Given the description of an element on the screen output the (x, y) to click on. 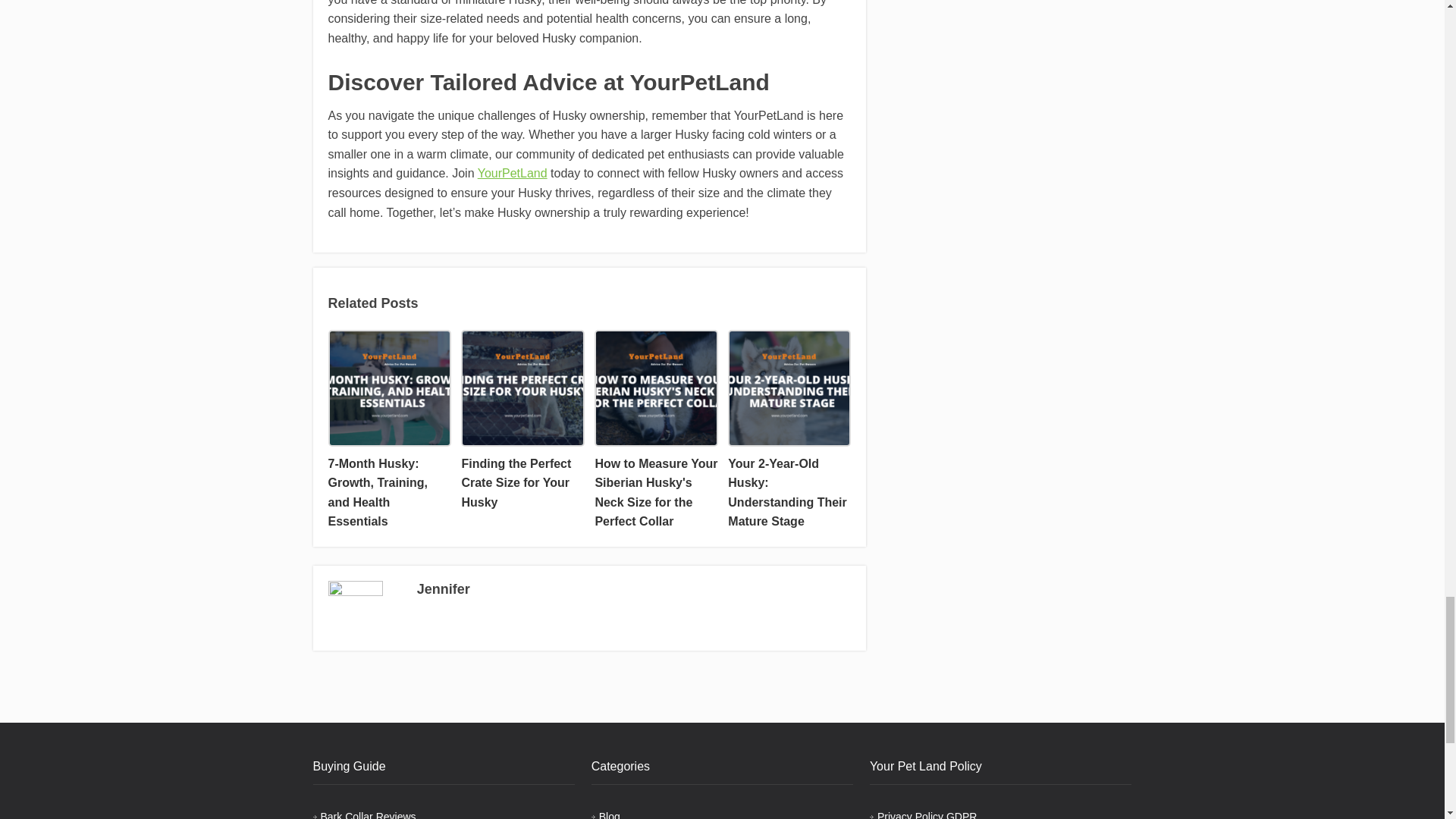
7-Month Husky: Growth, Training, and Health Essentials (388, 430)
Finding the Perfect Crate Size for Your Husky (522, 421)
YourPetLand (512, 173)
Your 2-Year-Old Husky: Understanding Their Mature Stage (789, 430)
